Given the description of an element on the screen output the (x, y) to click on. 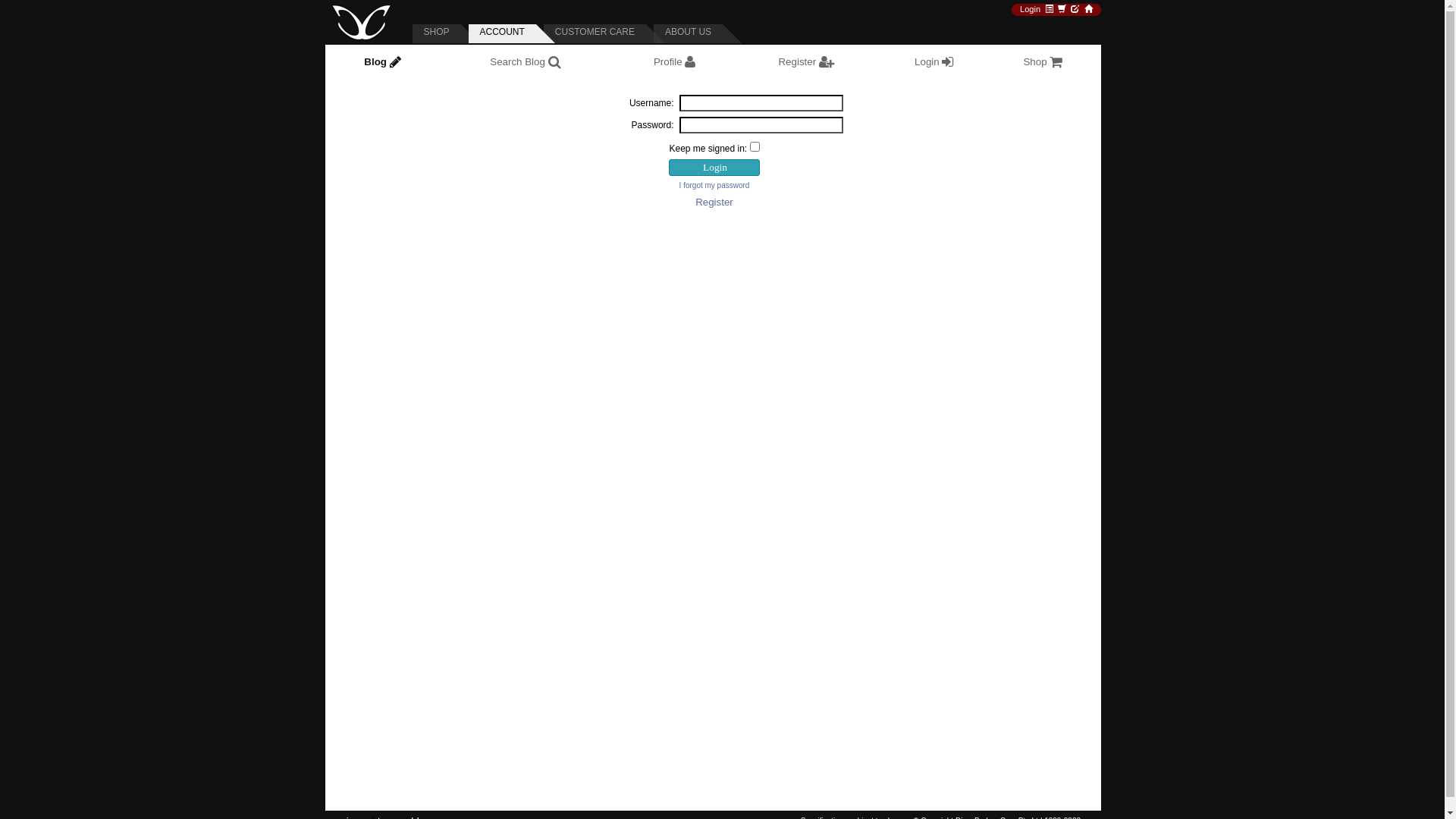
Profile Element type: text (674, 61)
Register Element type: text (805, 61)
ACCOUNT Element type: text (511, 33)
SHOP Element type: text (446, 33)
Shop Element type: text (1042, 61)
Search Blog Element type: text (517, 61)
Register Element type: text (714, 201)
Cart Element type: hover (1061, 8)
Login Element type: text (926, 61)
ABOUT US Element type: text (697, 33)
Login Element type: text (1029, 8)
Shop Element type: text (1034, 61)
Blog Element type: text (375, 61)
I forgot my password Element type: text (714, 185)
CUSTOMER CARE Element type: text (604, 33)
Home Element type: hover (1088, 8)
Search Blog Element type: text (524, 61)
Register Element type: hover (1074, 8)
Register Element type: text (796, 61)
Login Element type: text (713, 167)
Profile Element type: text (667, 61)
Blog Element type: text (381, 59)
Blog Element type: hover (1048, 8)
Login Element type: text (933, 61)
